Given the description of an element on the screen output the (x, y) to click on. 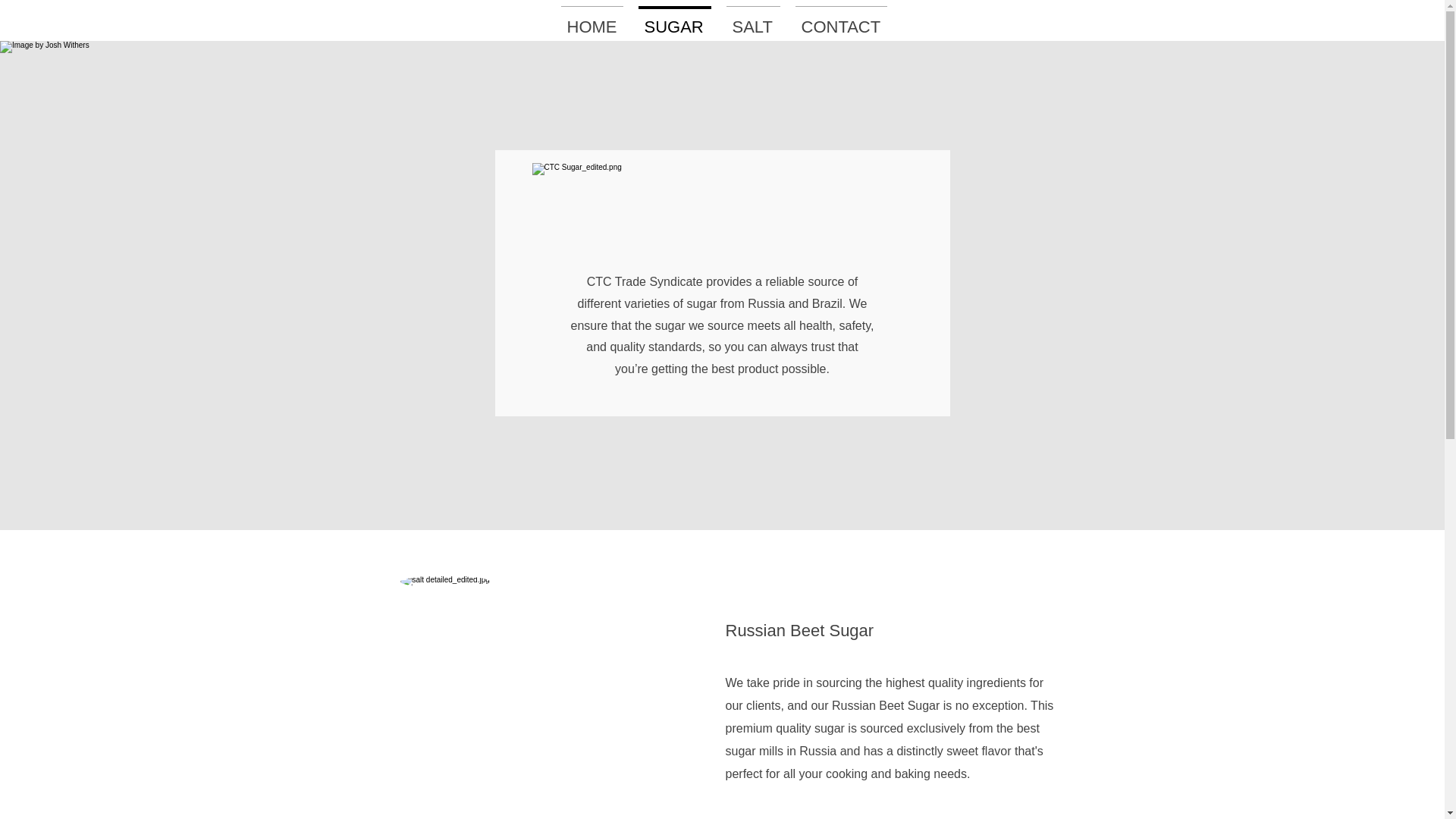
CONTACT (840, 20)
SALT (753, 20)
SUGAR (674, 20)
HOME (591, 20)
